Given the description of an element on the screen output the (x, y) to click on. 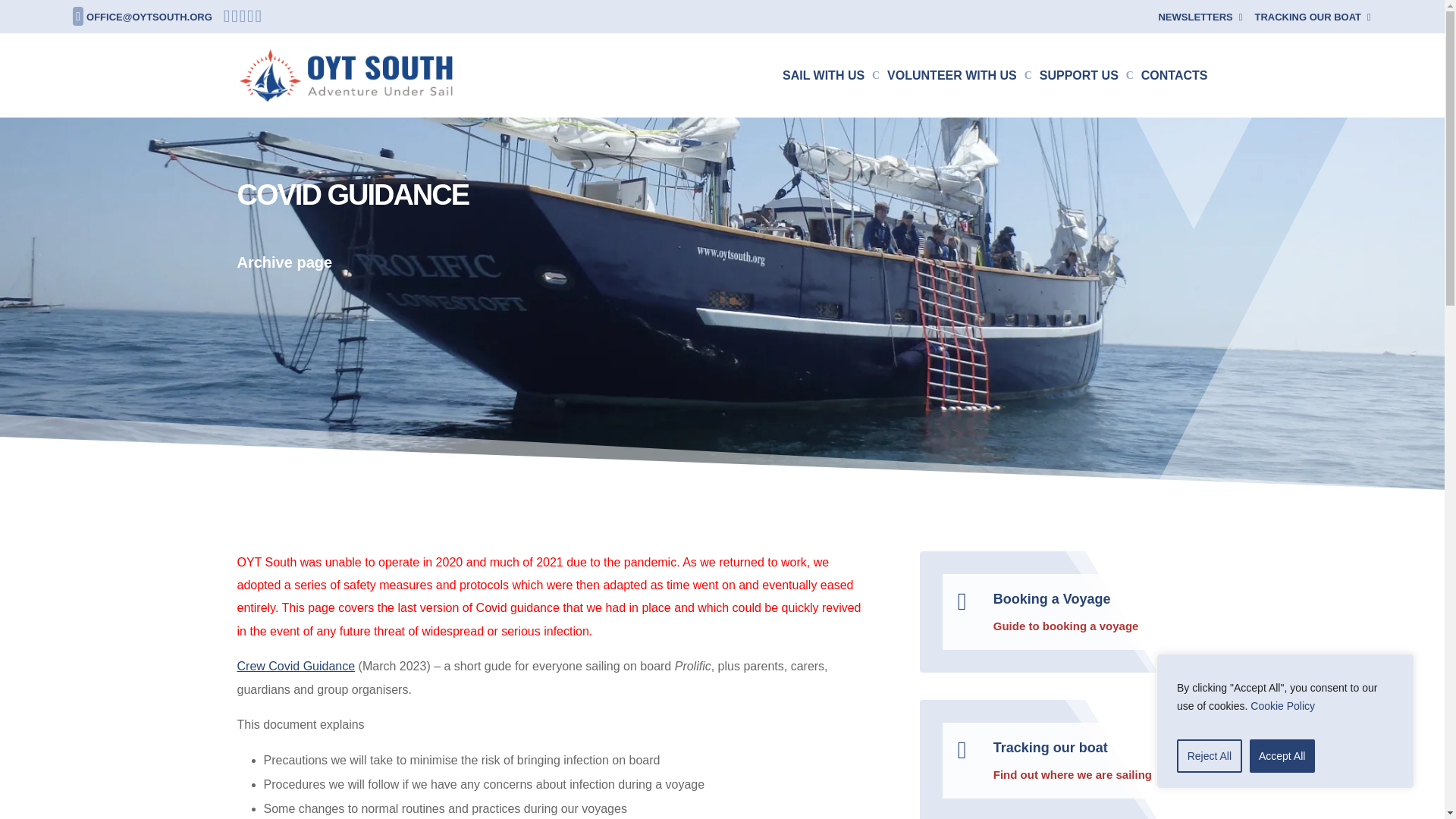
Reject All (1208, 756)
Accept All (1281, 756)
NEWSLETTERS (1200, 20)
Cookie Policy (1282, 705)
TRACKING OUR BOAT (1312, 20)
SAIL WITH US (831, 93)
